Given the description of an element on the screen output the (x, y) to click on. 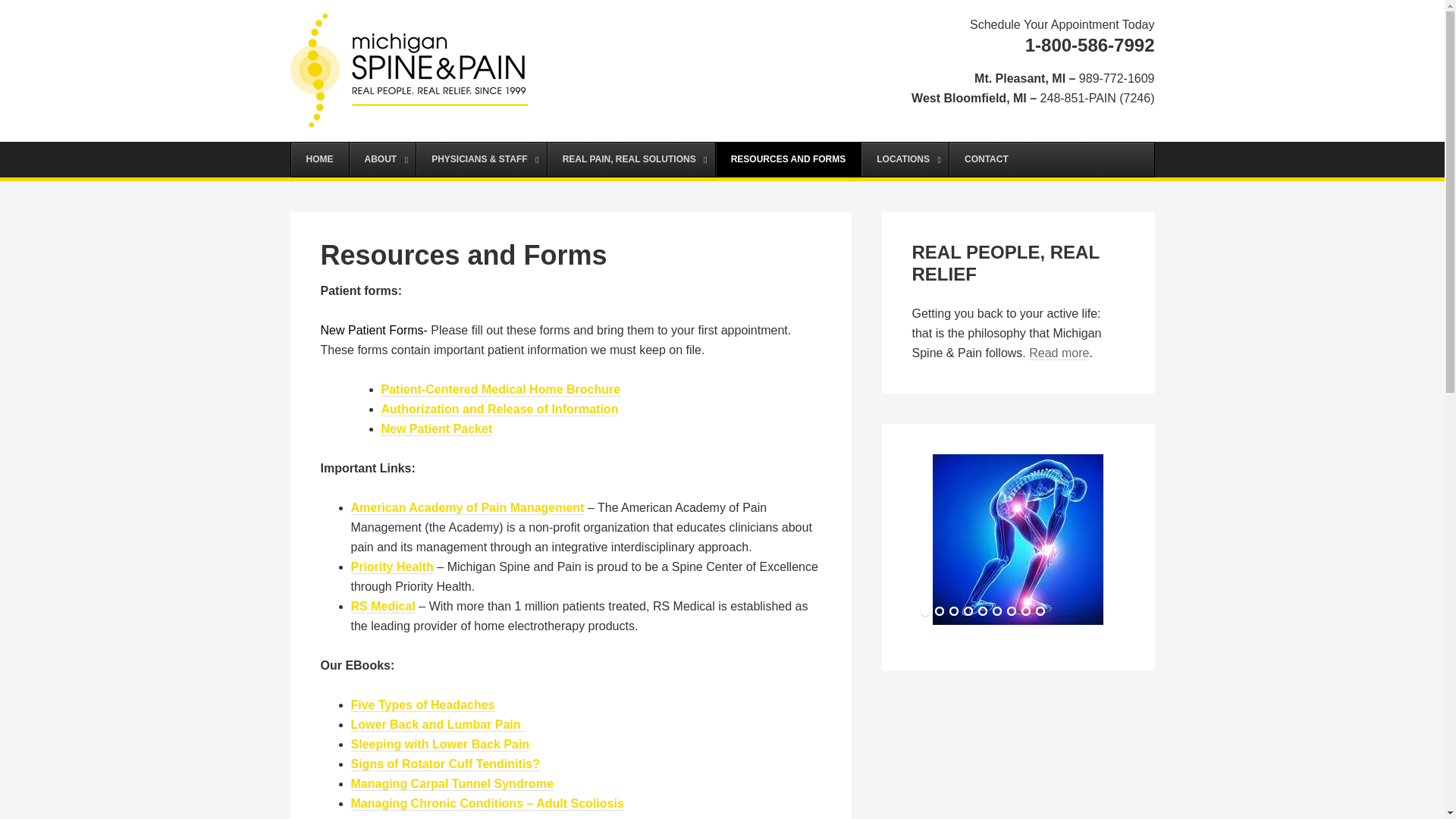
CONTACT (986, 159)
Patient-Centered Medical Home Brochure (500, 389)
HOME (320, 159)
Real Pain, Real Solutions (1059, 353)
RESOURCES AND FORMS (787, 159)
REAL PAIN, REAL SOLUTIONS (630, 159)
ABOUT (382, 159)
LOCATIONS (904, 159)
